Given the description of an element on the screen output the (x, y) to click on. 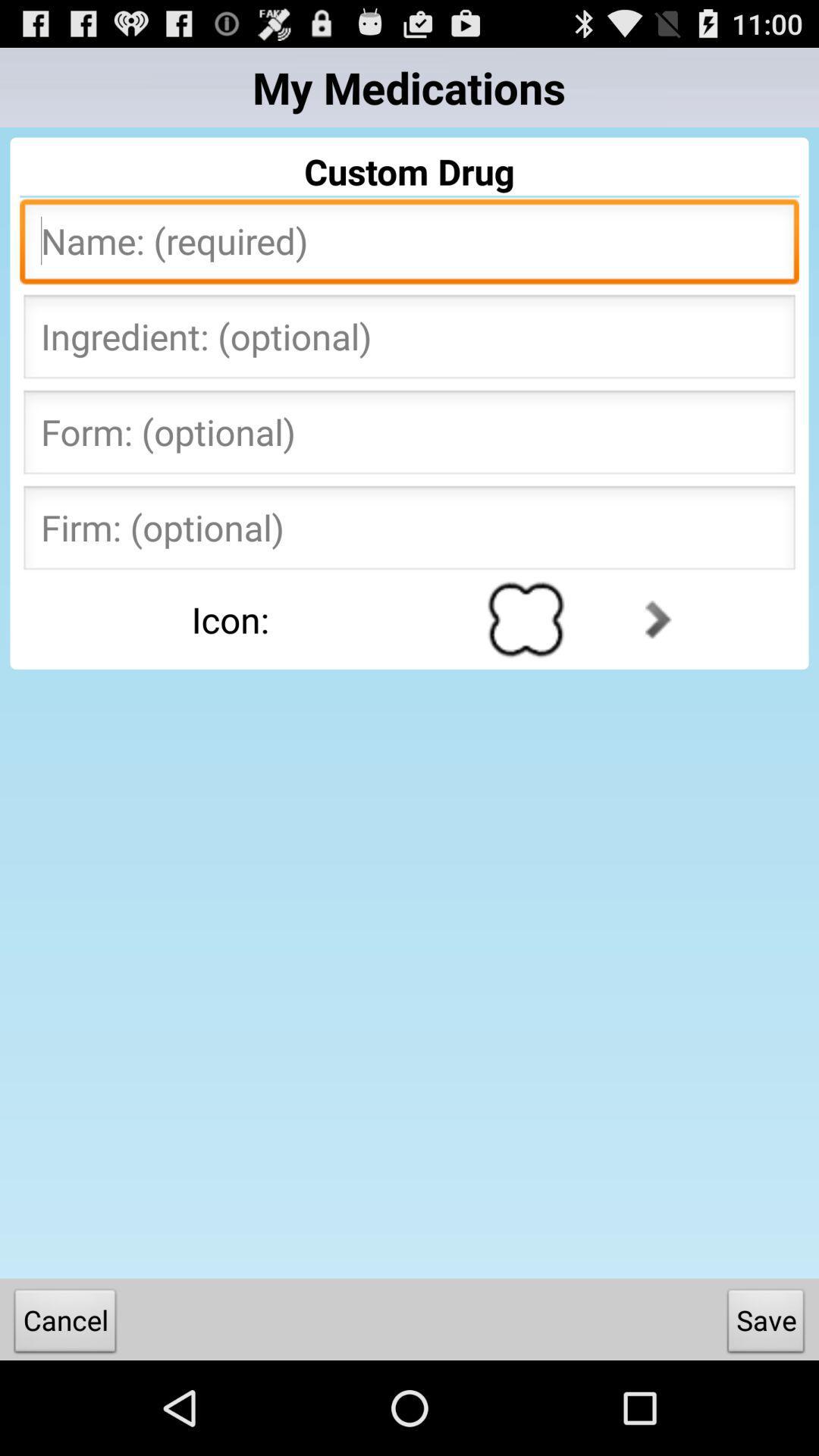
open the item to the left of the save item (65, 1324)
